Given the description of an element on the screen output the (x, y) to click on. 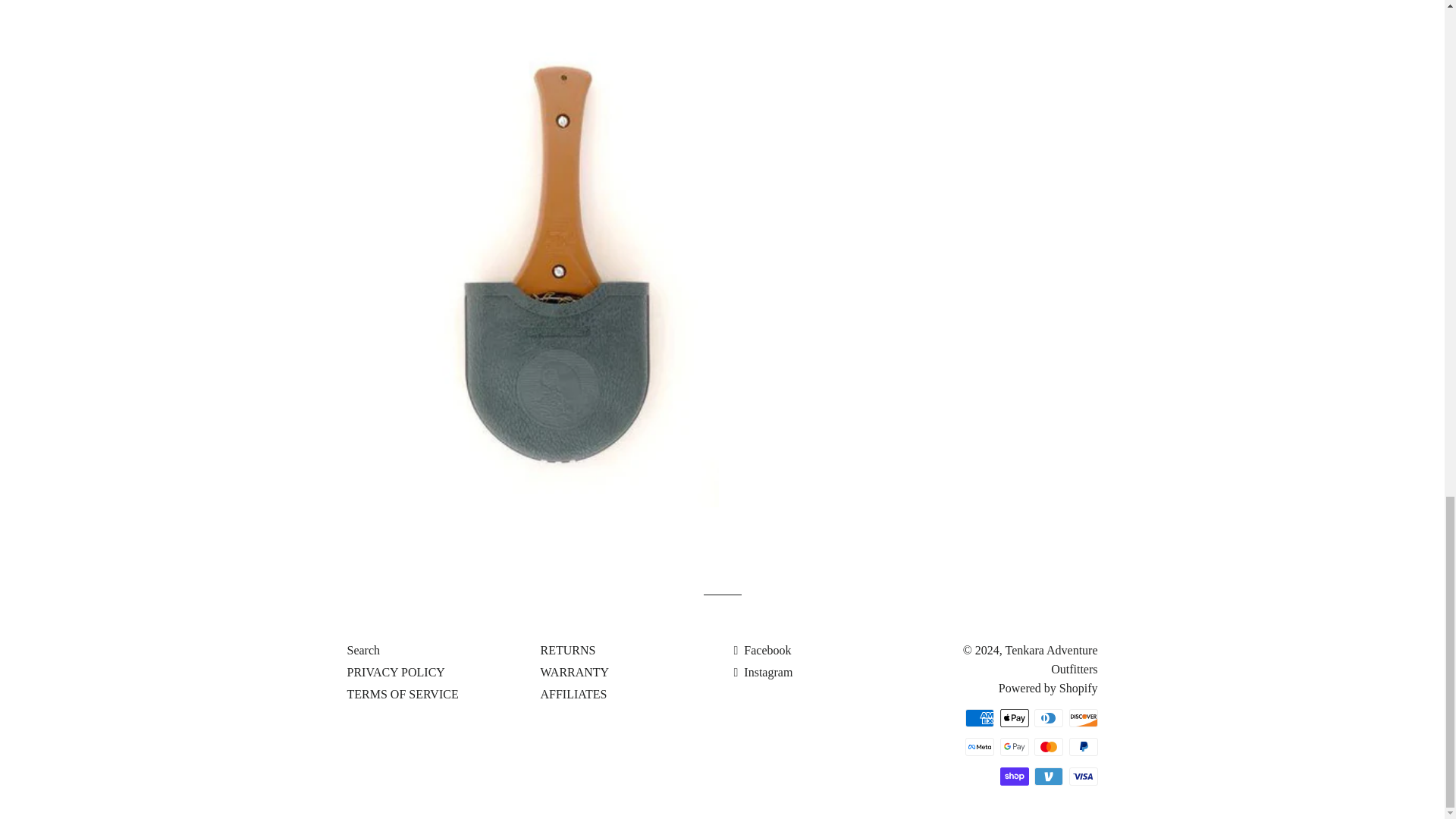
Discover (1082, 718)
Shop Pay (1012, 776)
RETURNS (567, 649)
WARRANTY (574, 671)
Mastercard (1047, 746)
Venmo (1047, 776)
American Express (979, 718)
Powered by Shopify (1047, 687)
Search (363, 649)
PRIVACY POLICY (396, 671)
